Given the description of an element on the screen output the (x, y) to click on. 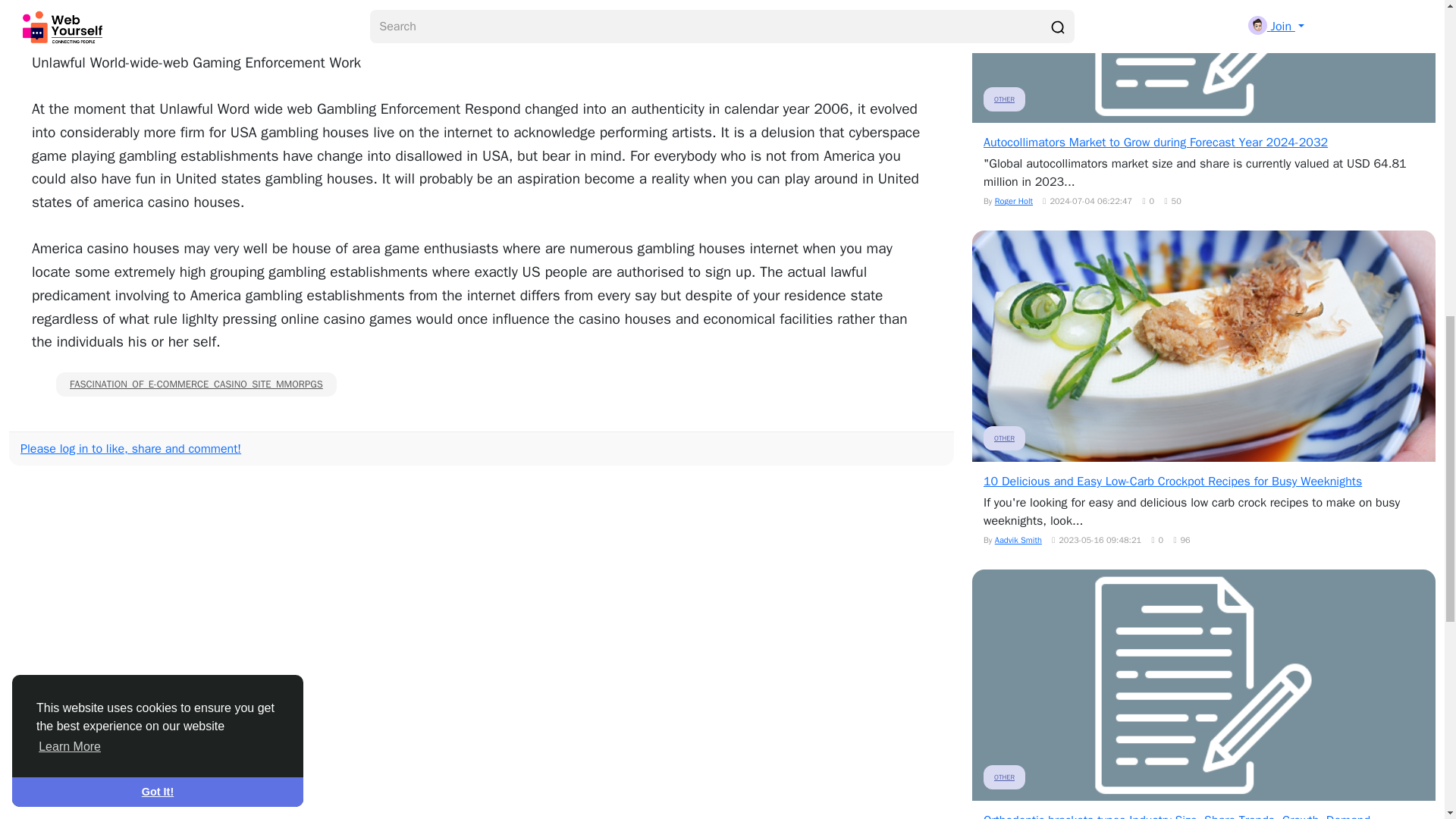
Please log in to like, share and comment! (130, 448)
